Given the description of an element on the screen output the (x, y) to click on. 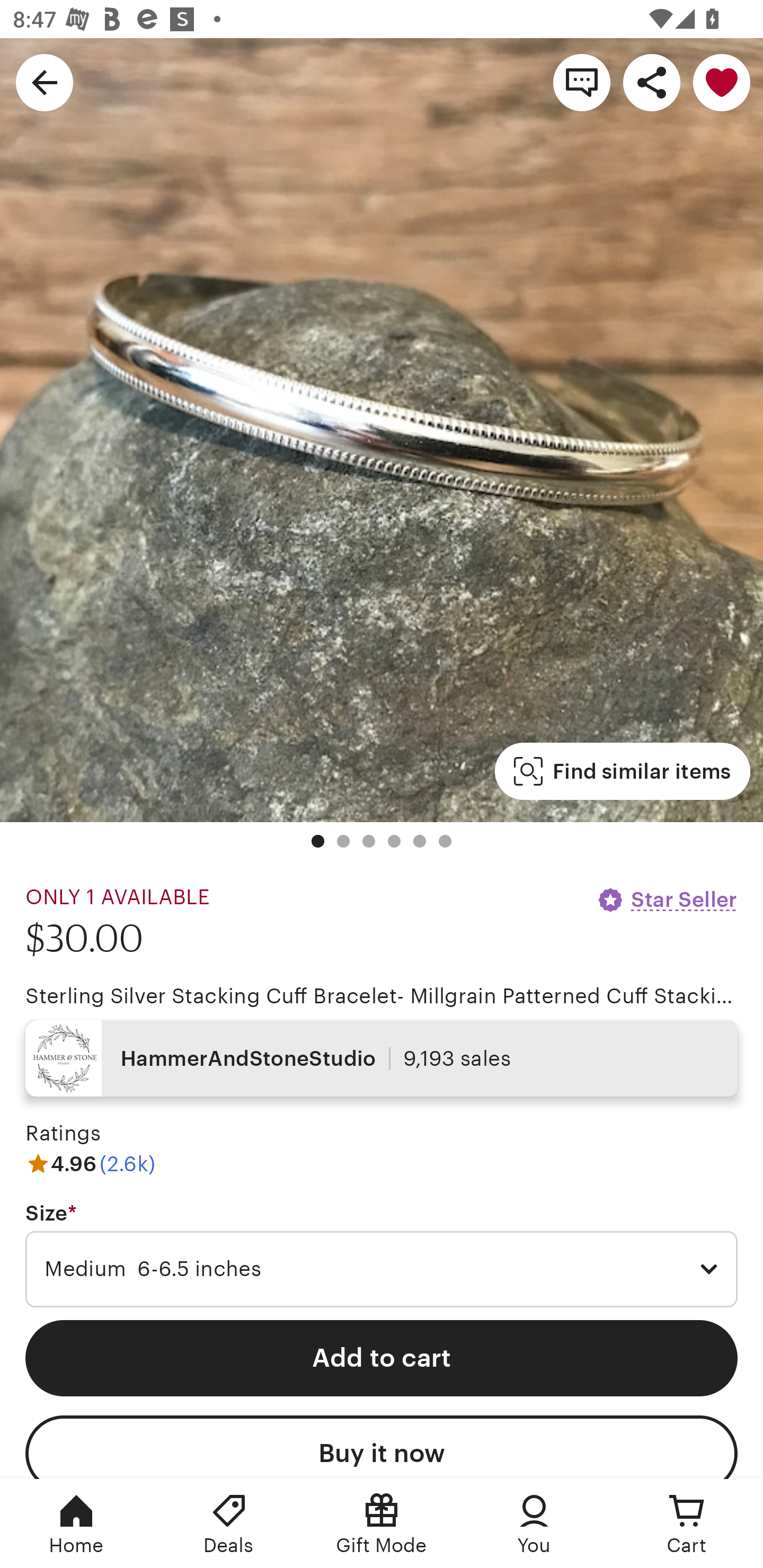
Navigate up (44, 81)
Contact shop (581, 81)
Share (651, 81)
Find similar items (622, 771)
Star Seller (666, 899)
HammerAndStoneStudio 9,193 sales (381, 1058)
Ratings (62, 1133)
4.96 (2.6k) (90, 1163)
Size * Required Medium  6-6.5 inches (381, 1254)
Medium  6-6.5 inches (381, 1268)
Add to cart (381, 1358)
Buy it now (381, 1446)
Deals (228, 1523)
Gift Mode (381, 1523)
You (533, 1523)
Cart (686, 1523)
